Given the description of an element on the screen output the (x, y) to click on. 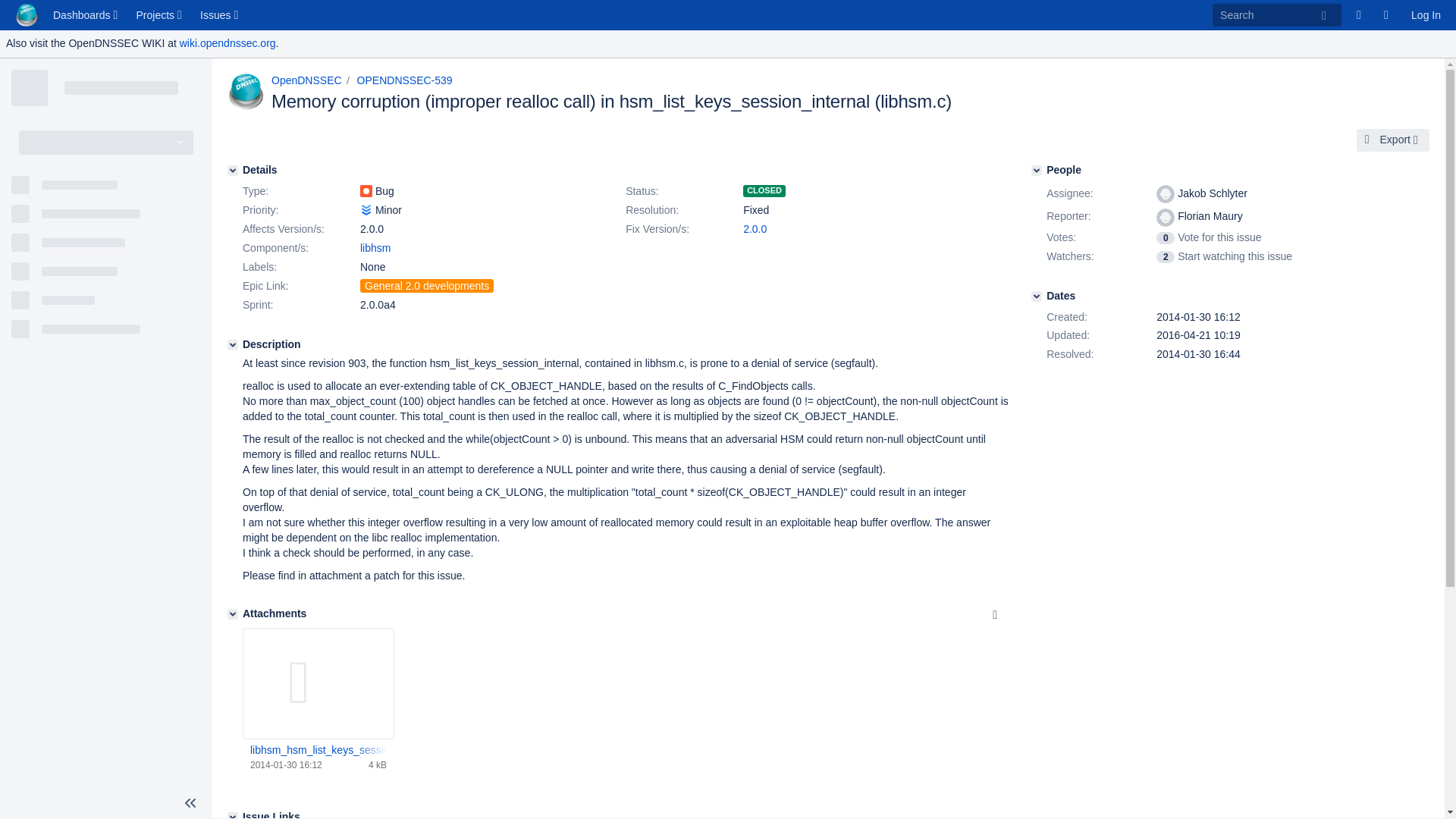
Issues (220, 15)
Help (1389, 15)
OpenDNSSEC (306, 80)
Give feedback to Atlassian (1362, 15)
wiki.opendnssec.org (227, 42)
Projects (161, 15)
View recent projects and browse a list of projects (161, 15)
Help (1389, 15)
2.0.0 OpenDNSSEC enforcer enhancements (754, 228)
Search for issues and view recent issues (220, 15)
2.0.0 OpenDNSSEC enforcer enhancements (371, 228)
General 2.0 developments (426, 285)
libhsm (374, 247)
View and manage your dashboards (87, 15)
